Given the description of an element on the screen output the (x, y) to click on. 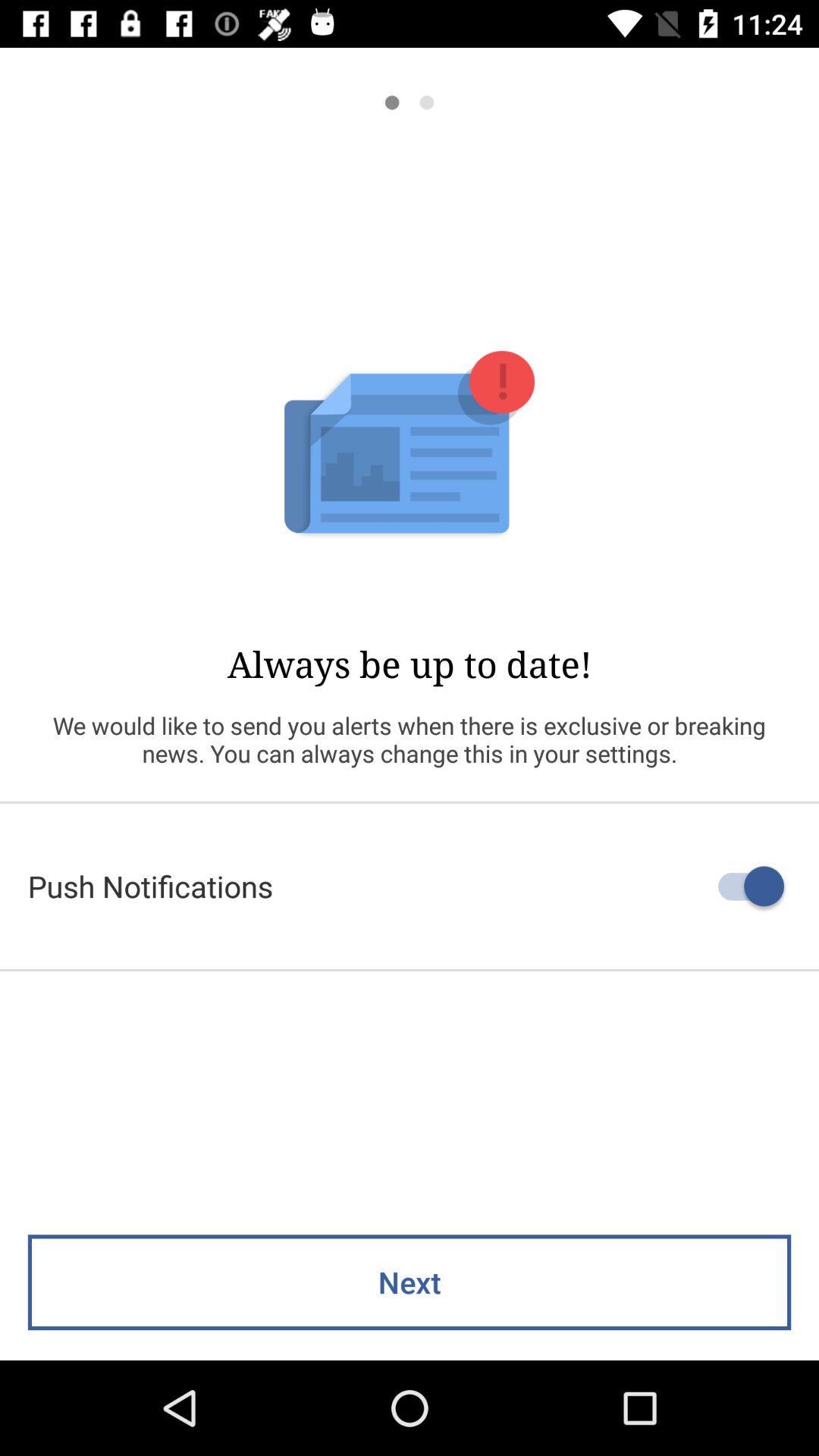
launch push notifications (409, 886)
